Given the description of an element on the screen output the (x, y) to click on. 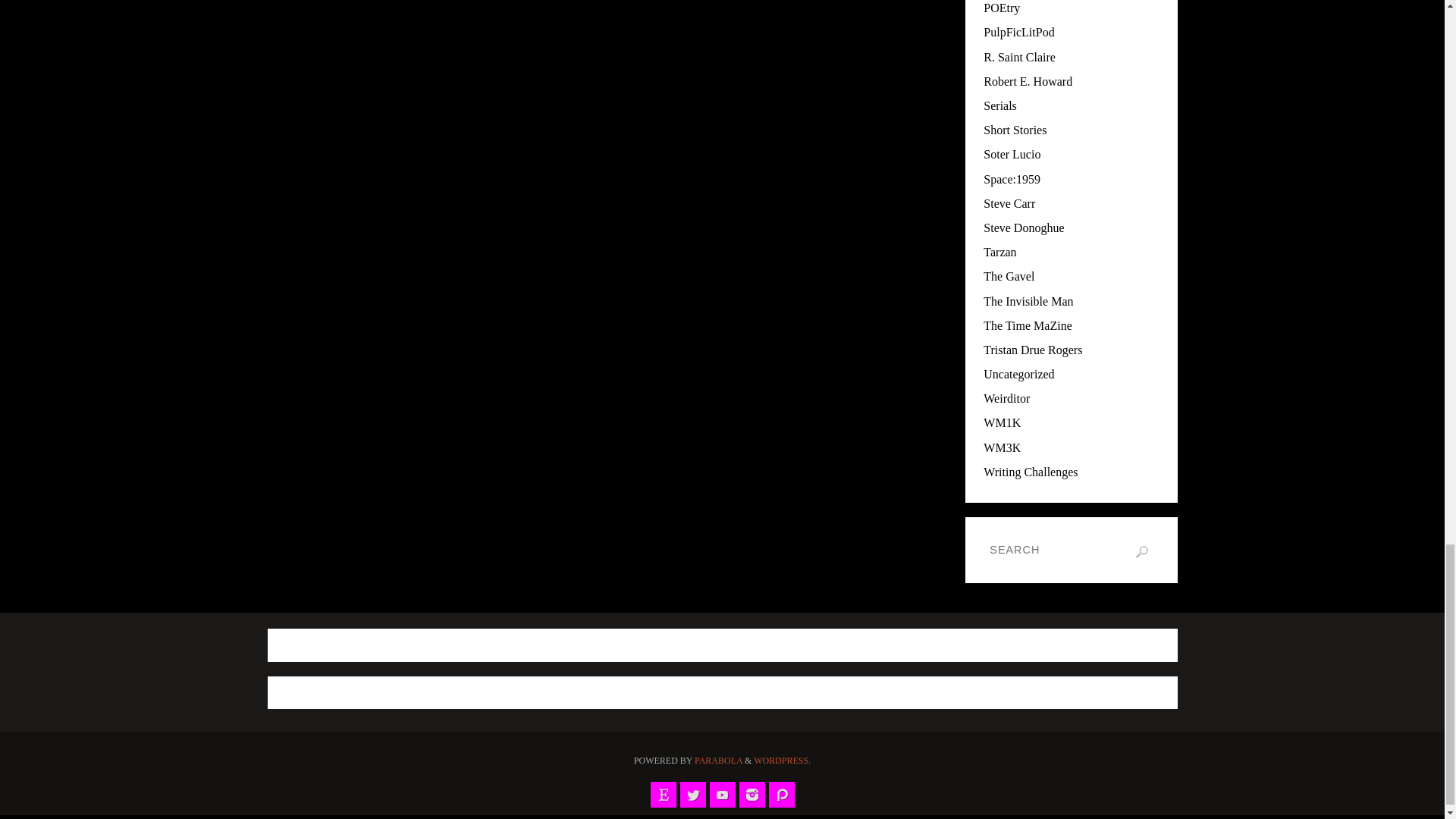
Parabola Theme by Cryout Creations (718, 760)
